Given the description of an element on the screen output the (x, y) to click on. 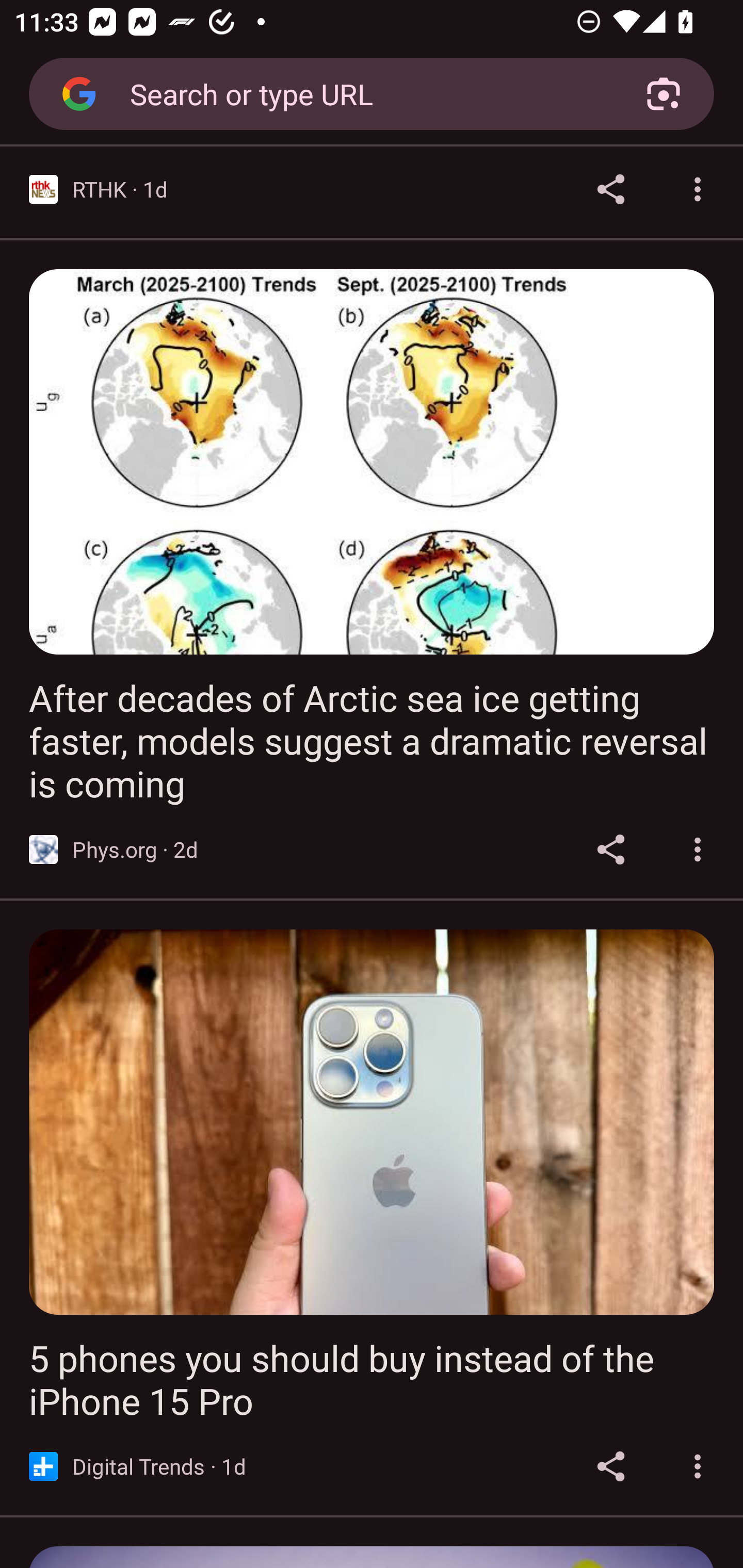
Search with your camera using Google Lens (663, 93)
Search or type URL (364, 92)
Share 'HKUST medical school to focus on research' (610, 188)
